Given the description of an element on the screen output the (x, y) to click on. 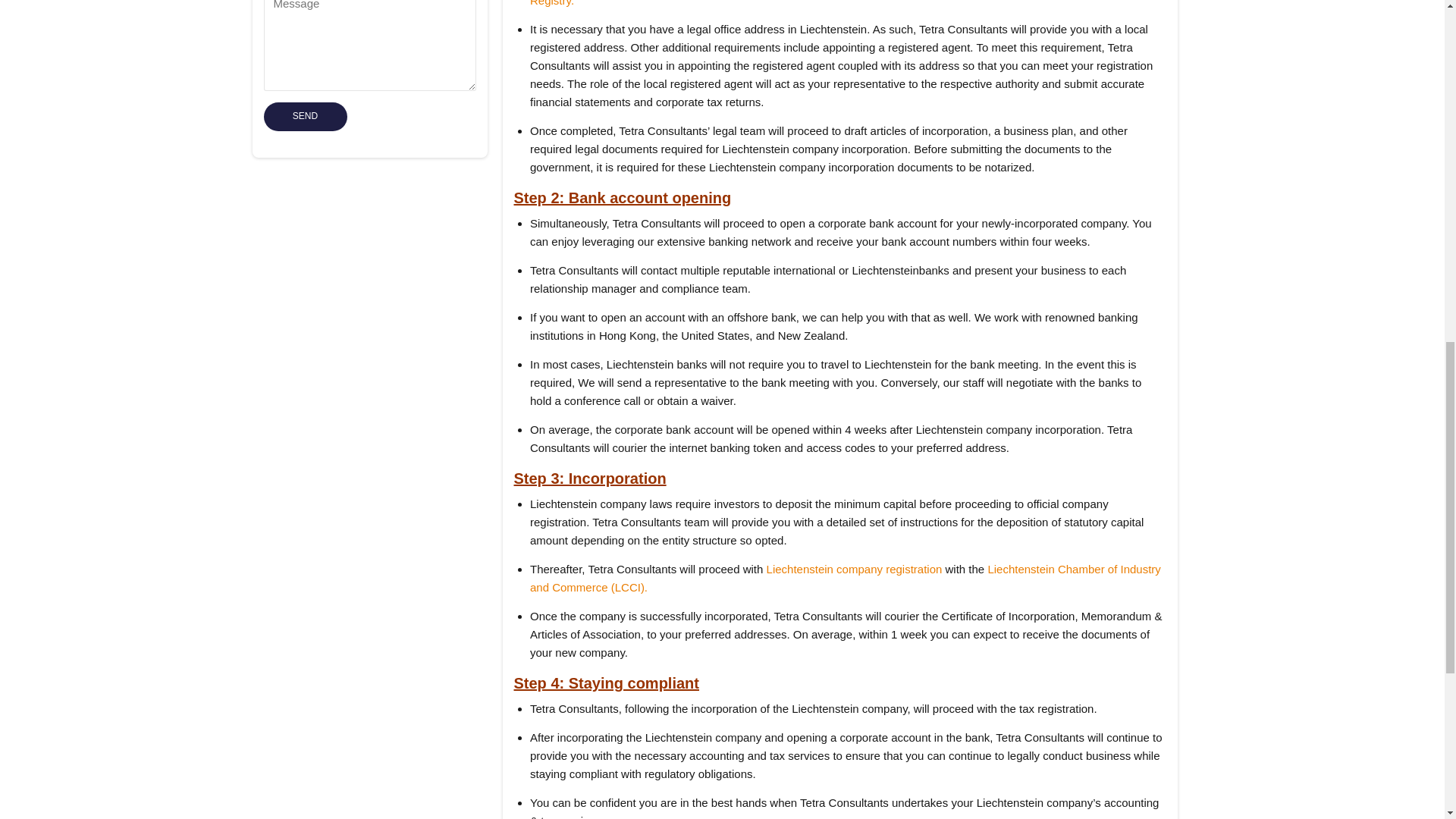
Liechtenstein company registration (854, 568)
Send (305, 116)
Send (305, 116)
